Given the description of an element on the screen output the (x, y) to click on. 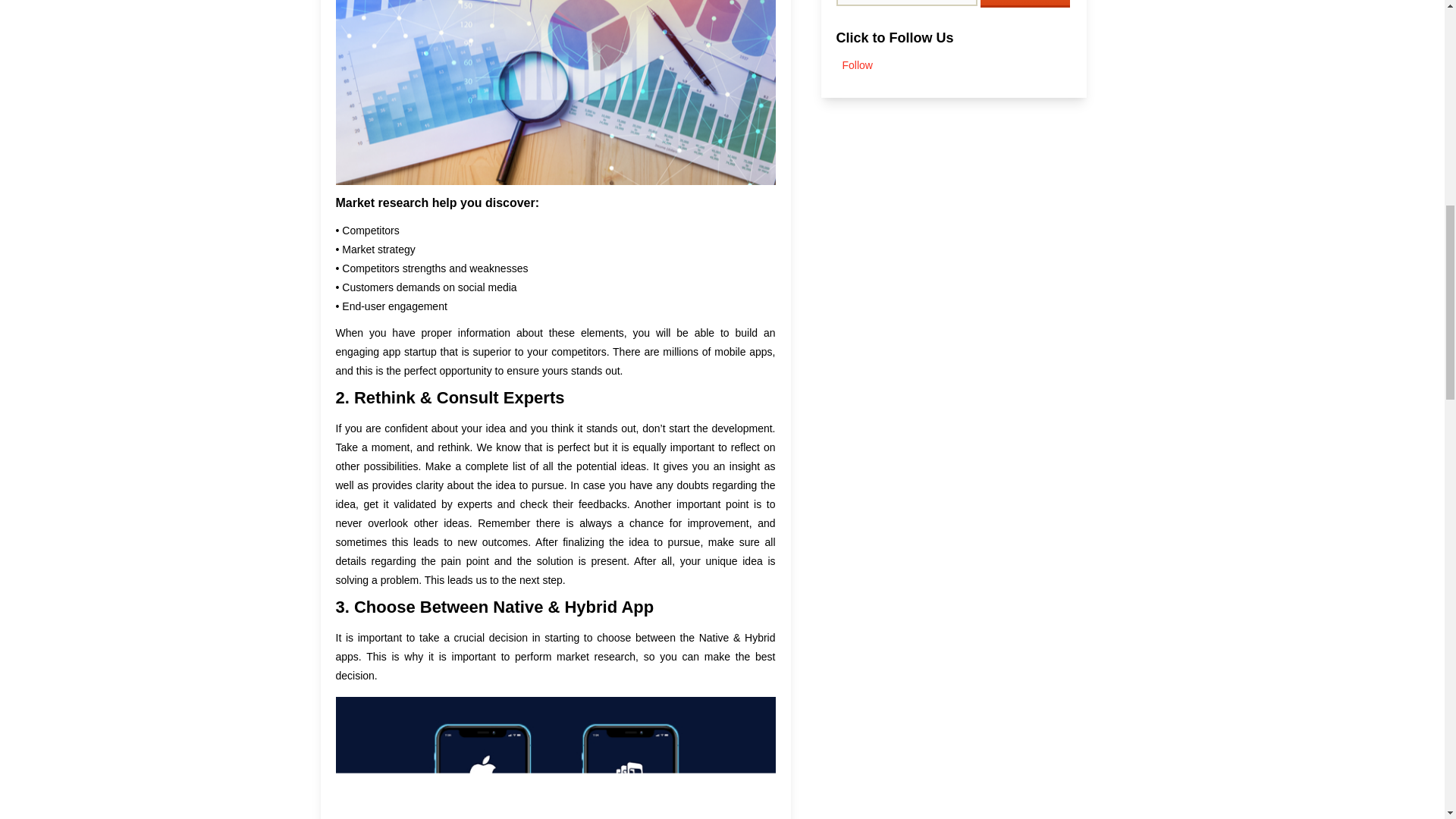
Future Of Blockchain Technology You Should Know (1003, 330)
Subscribe (1024, 3)
Mobile App Maintenance in 2024: The Vital Investment (994, 262)
Native vs Hybrid vs Cross-platform : Which One to Choose (1004, 191)
Top 10 Errors to Avoid Before Hiring Mobile App Developers (1016, 610)
